Given the description of an element on the screen output the (x, y) to click on. 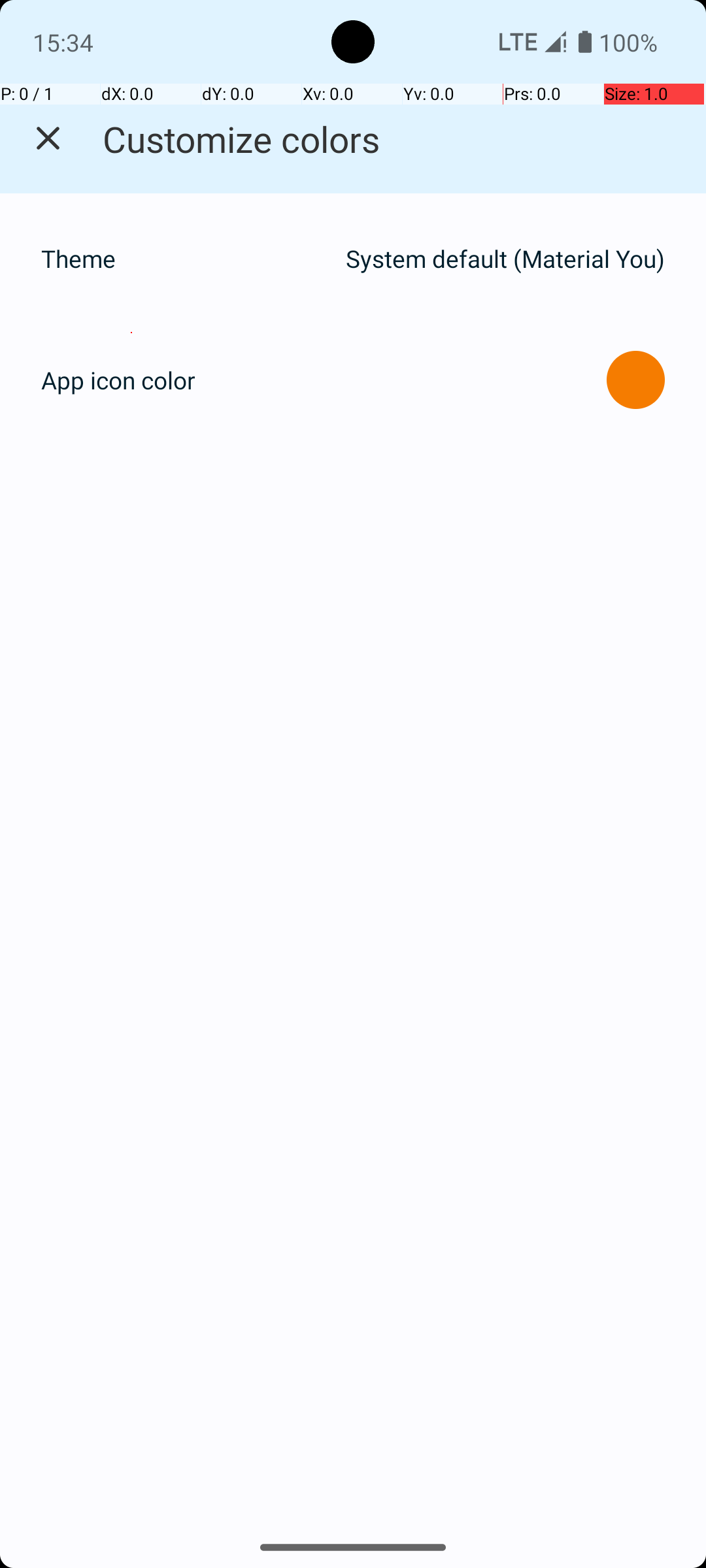
System default (Material You) Element type: android.widget.TextView (504, 258)
App icon color Element type: android.widget.TextView (118, 379)
